Given the description of an element on the screen output the (x, y) to click on. 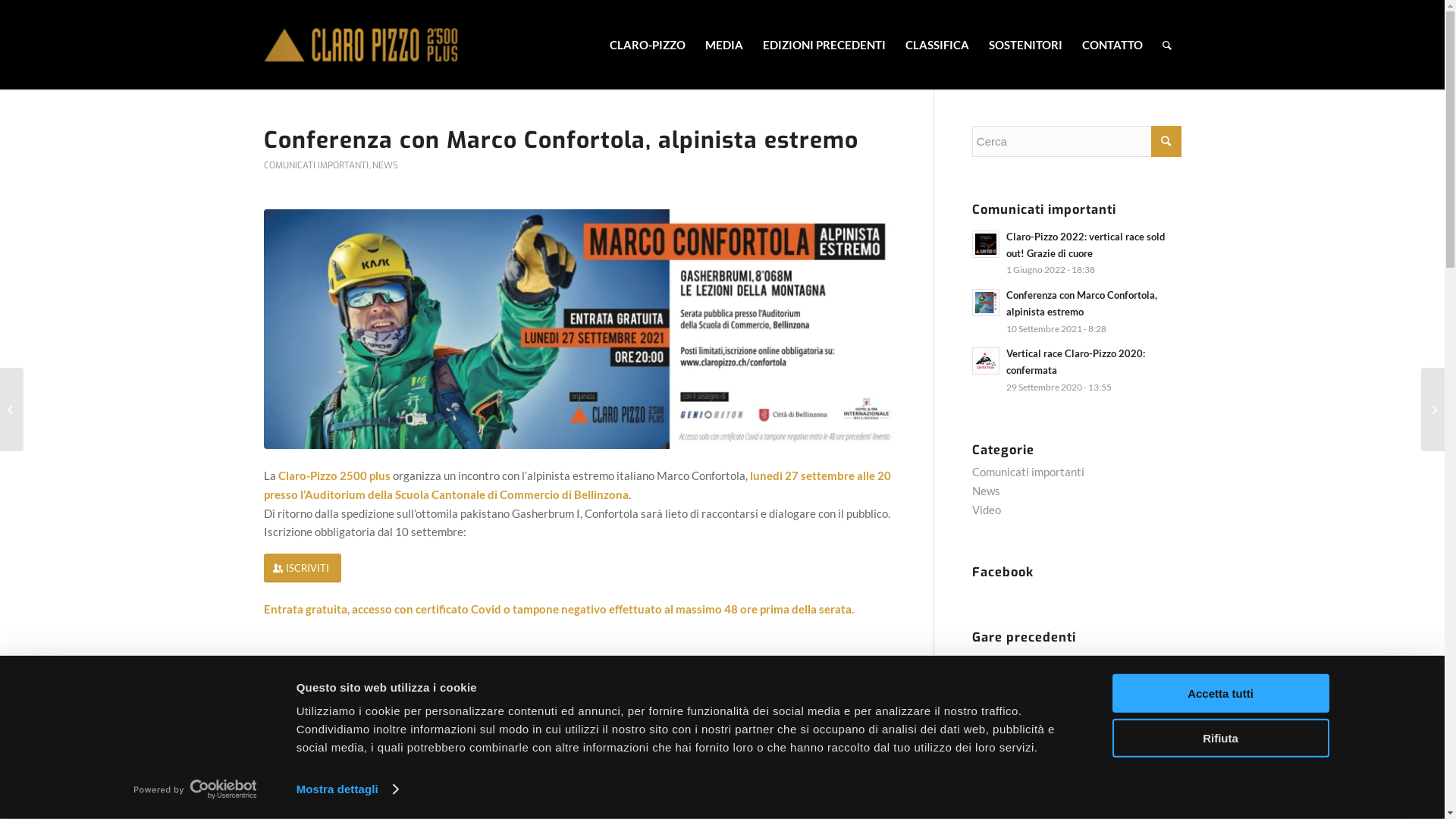
Accetta tutti Element type: text (1219, 693)
Edizione 2021 Element type: text (1038, 748)
Claro-Pizzo 2022: vertical race sold out! Grazie di cuore Element type: text (1085, 244)
comfortola-img Element type: hover (579, 329)
Leggi: Edizione 2022 Element type: hover (985, 713)
Rifiuta Element type: text (1219, 737)
CLASSIFICA Element type: text (936, 44)
Mostra dettagli Element type: text (347, 789)
Vertical race Claro-Pizzo 2020: confermata Element type: text (1075, 361)
News Element type: text (986, 490)
Edizione 2020 Element type: text (1038, 790)
Leggi: Conferenza con Marco Confortola, alpinista estremo Element type: hover (985, 302)
Video Element type: text (986, 509)
NEWS Element type: text (384, 165)
Leggi: Edizione 2023 Element type: hover (985, 671)
MEDIA Element type: text (723, 44)
Conferenza con Marco Confortola, alpinista estremo Element type: text (1081, 302)
Comunicati importanti Element type: text (1028, 471)
EDIZIONI PRECEDENTI Element type: text (823, 44)
SOSTENITORI Element type: text (1024, 44)
COMUNICATI IMPORTANTI Element type: text (315, 165)
CONTATTO Element type: text (1112, 44)
Leggi: Vertical race Claro-Pizzo 2020: confermata Element type: hover (985, 360)
Edizione 2023 Element type: text (1038, 664)
ISCRIVITI Element type: text (302, 568)
Leggi: Edizione 2020 Element type: hover (985, 797)
Edizione 2022 Element type: text (1038, 705)
CLARO-PIZZO Element type: text (646, 44)
Leggi: Edizione 2021 Element type: hover (985, 755)
